Given the description of an element on the screen output the (x, y) to click on. 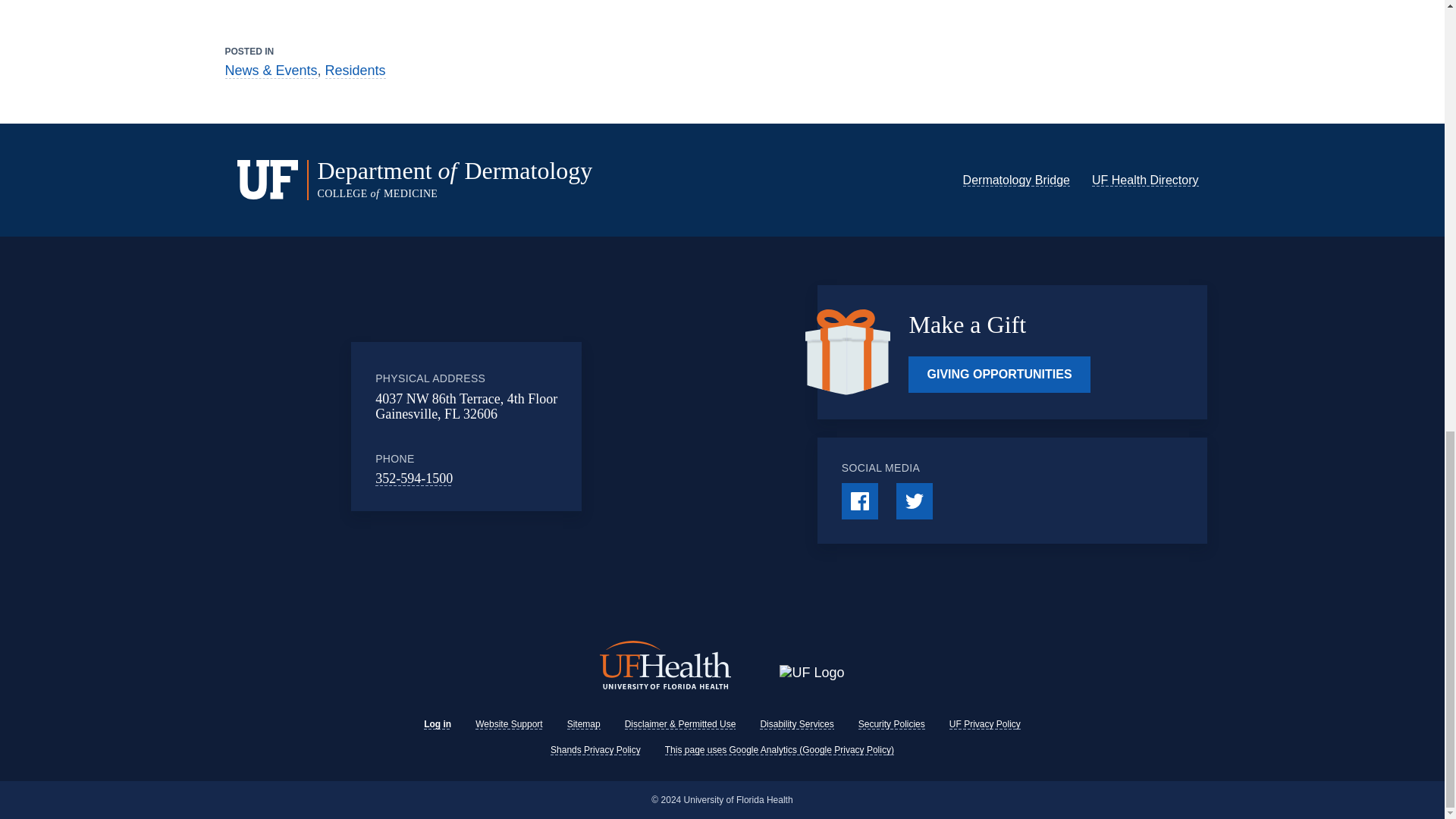
Dermatology Bridge (1016, 179)
UF Privacy Policy (984, 724)
UF Health Directory (1145, 179)
Security Policies (891, 724)
Sitemap (583, 724)
Log in (437, 724)
352-594-1500 (413, 478)
Disability Services (796, 724)
Shands Privacy Policy (595, 749)
Website Support (509, 724)
